Given the description of an element on the screen output the (x, y) to click on. 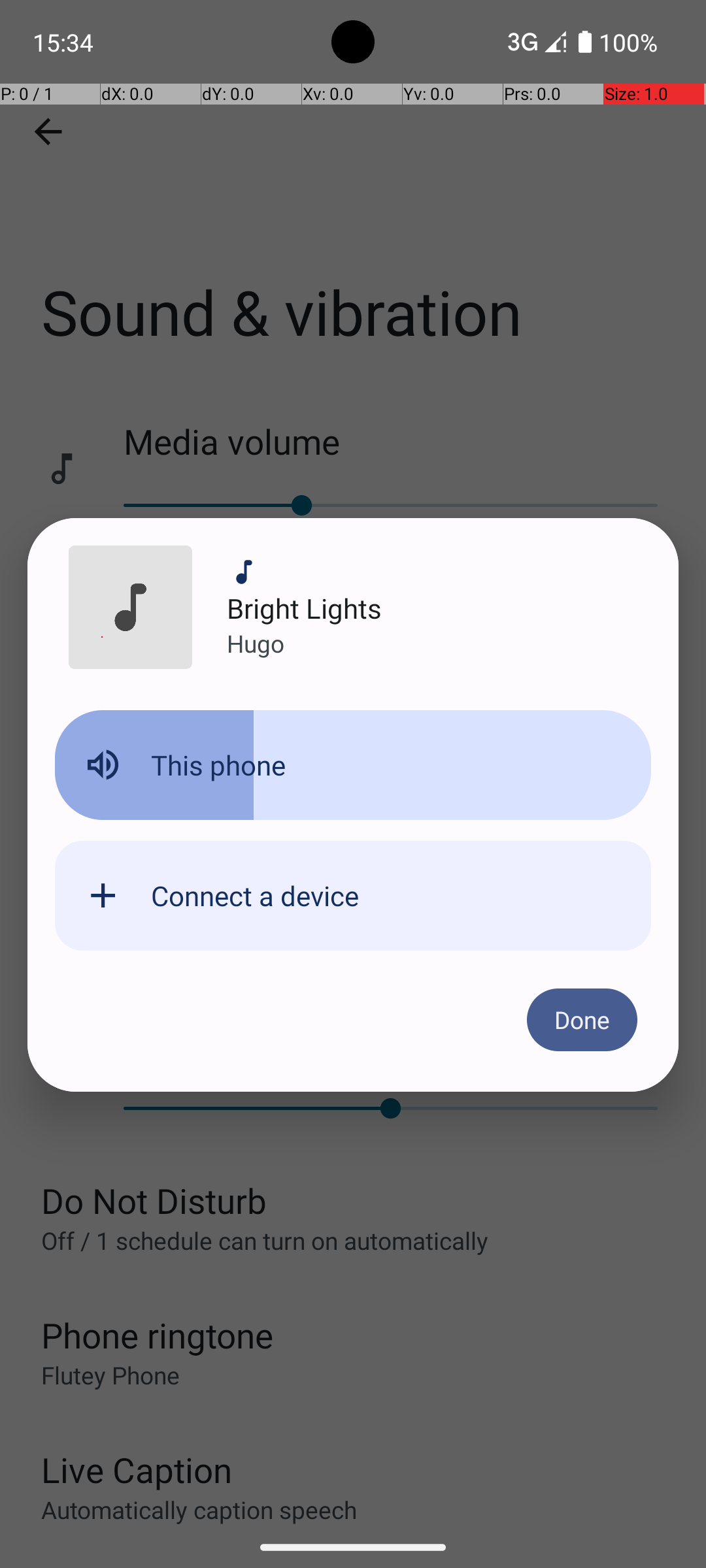
Bright Lights Element type: android.widget.TextView (303, 607)
Hugo Element type: android.widget.TextView (255, 642)
Connected to This phone. Element type: android.widget.LinearLayout (352, 775)
Volume Element type: android.widget.SeekBar (352, 764)
This phone Element type: android.widget.TextView (218, 764)
Connect a device Element type: android.widget.TextView (254, 895)
